Given the description of an element on the screen output the (x, y) to click on. 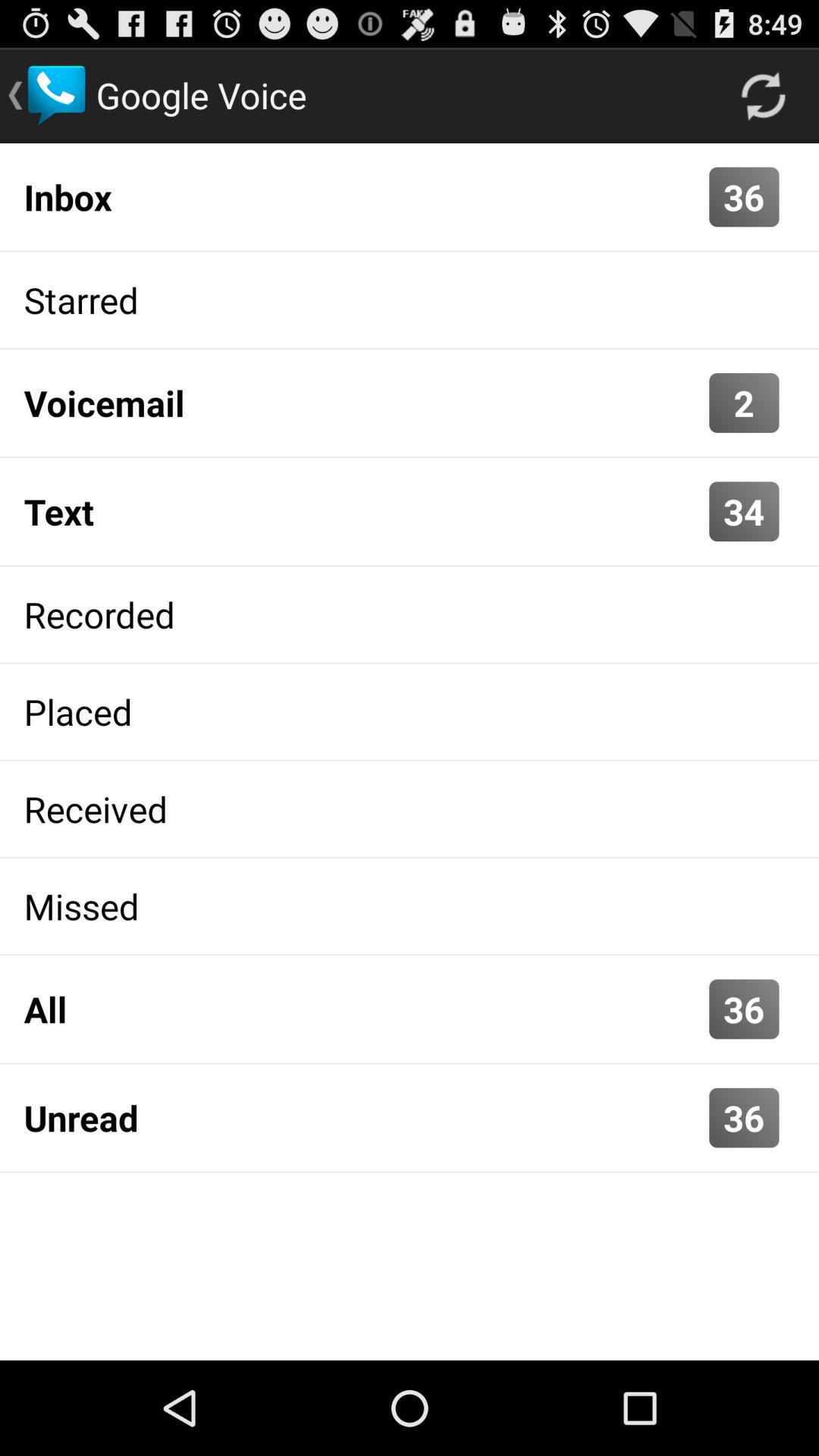
turn on app below starred app (362, 402)
